Given the description of an element on the screen output the (x, y) to click on. 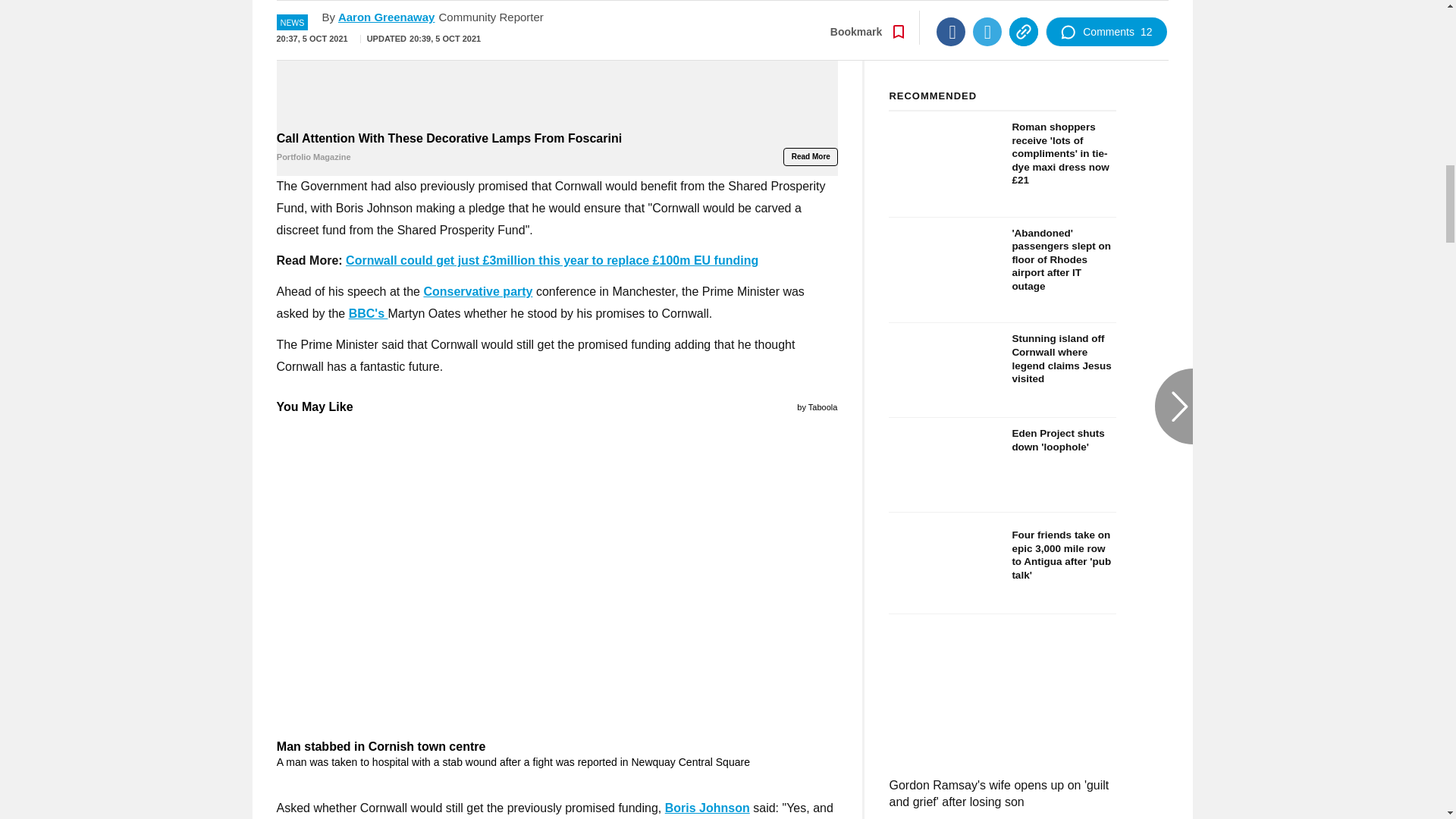
Call Attention With These Decorative Lamps From Foscarini (557, 148)
Call Attention With These Decorative Lamps From Foscarini (557, 63)
Man stabbed in Cornish town centre (557, 753)
